Given the description of an element on the screen output the (x, y) to click on. 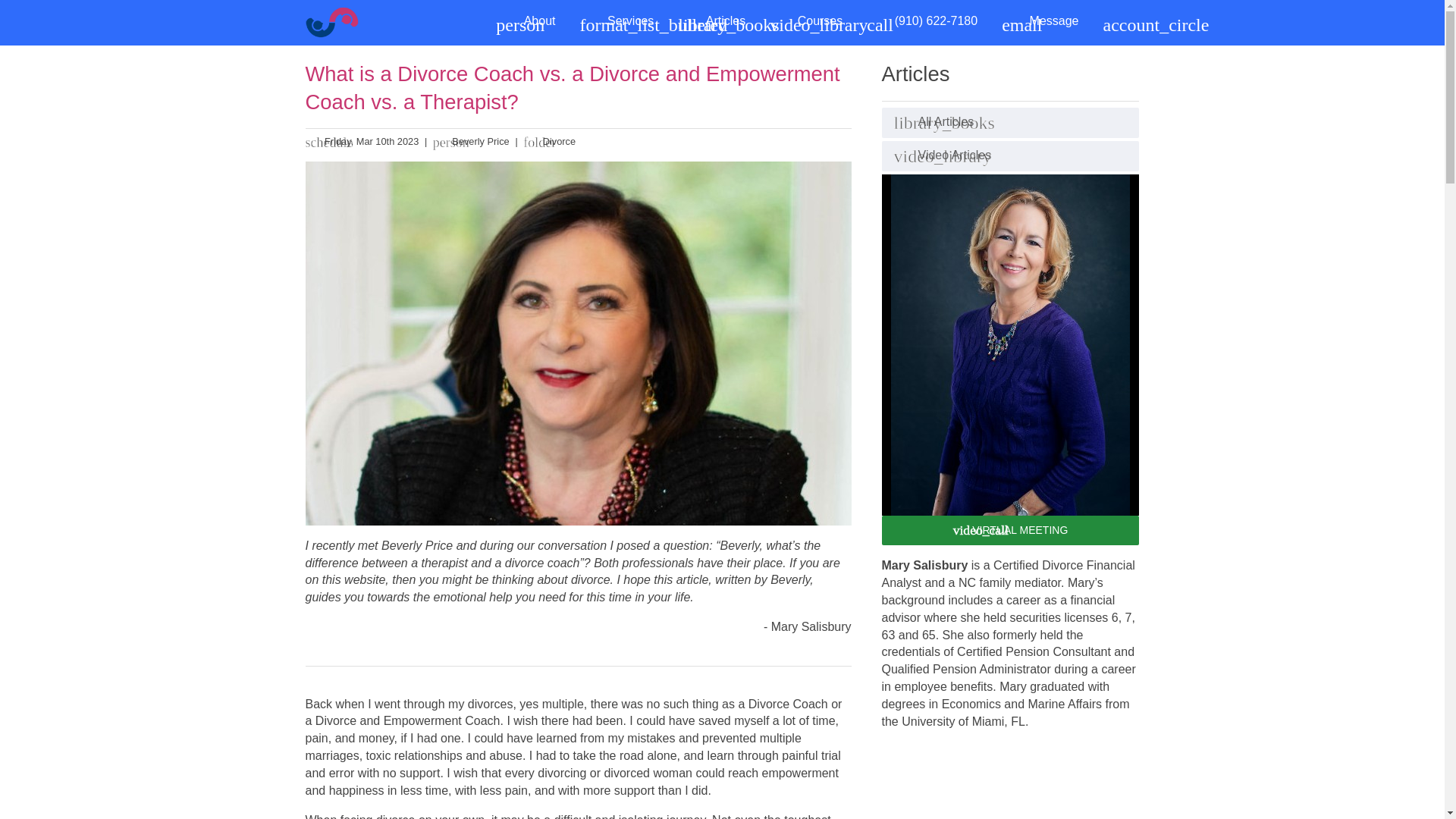
Articles (711, 21)
Services (616, 21)
Home (334, 22)
Call (922, 21)
Video Articles (1009, 155)
Message (1040, 21)
Courses (805, 21)
About (525, 21)
Services (616, 21)
About (525, 21)
Account (1114, 21)
Message (1040, 21)
Articles (711, 21)
All Articles (1009, 122)
VIRTUAL MEETING (1009, 530)
